Given the description of an element on the screen output the (x, y) to click on. 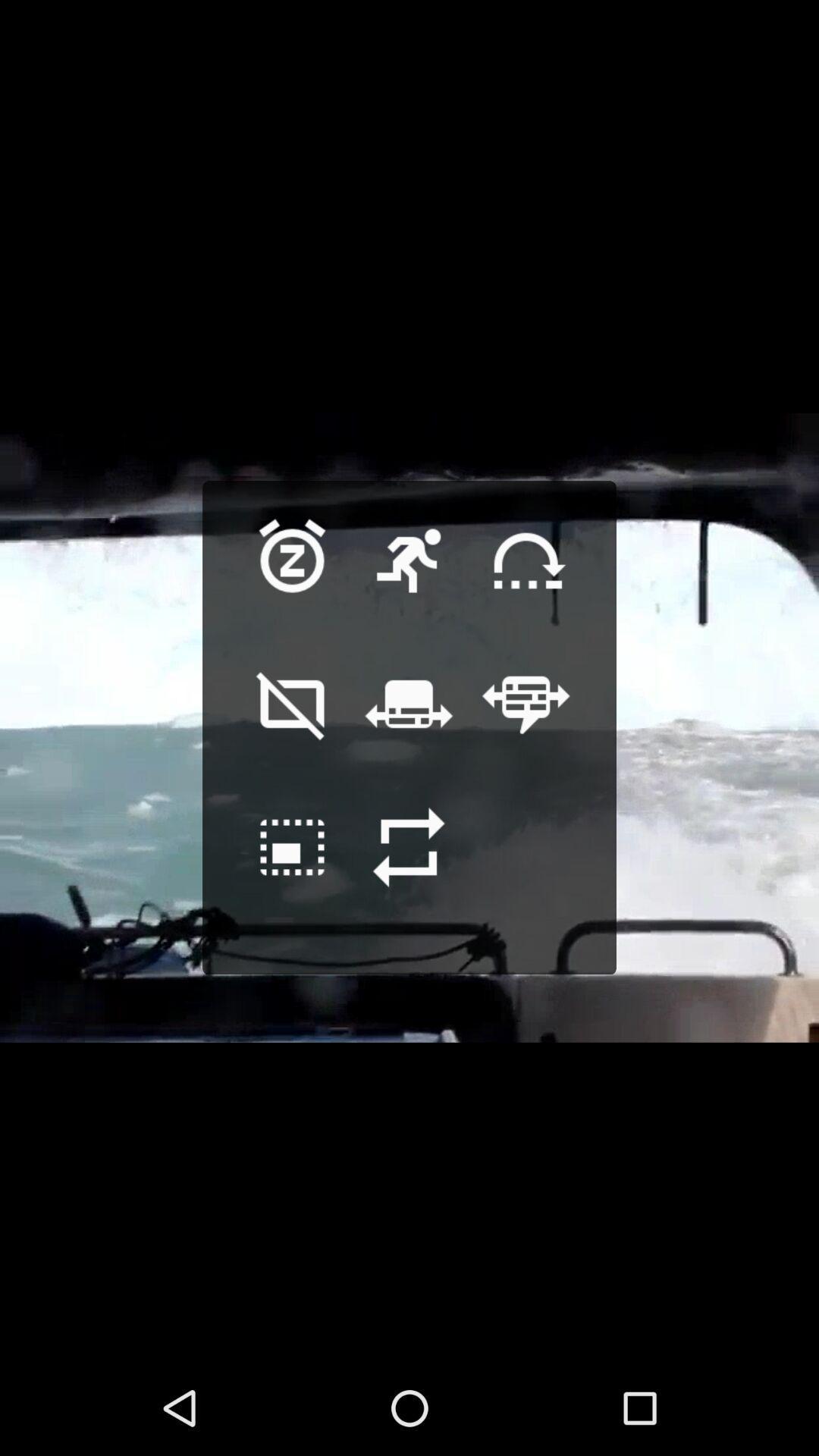
repeate button (408, 870)
